Given the description of an element on the screen output the (x, y) to click on. 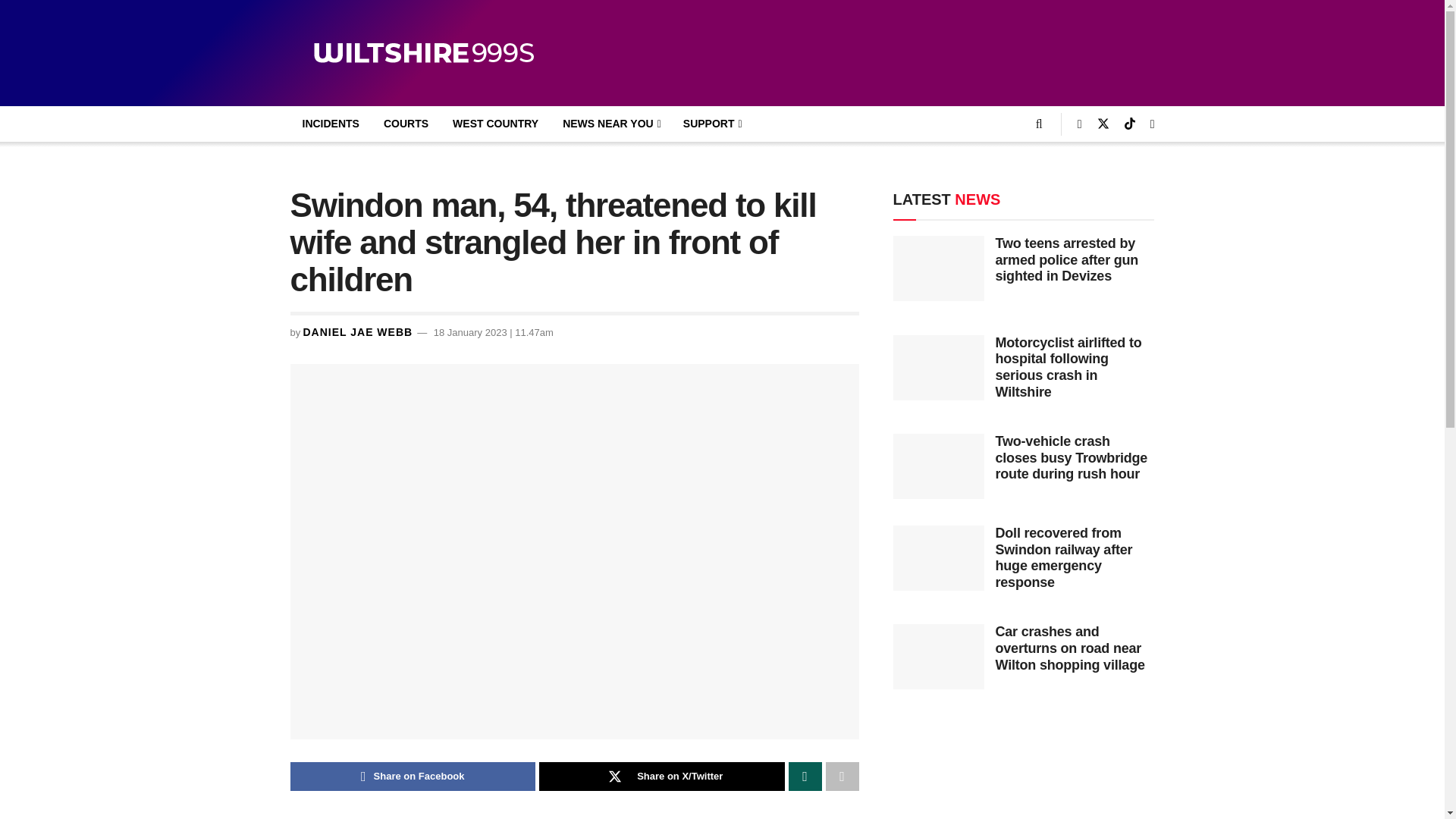
WEST COUNTRY (495, 123)
NEWS NEAR YOU (610, 123)
COURTS (406, 123)
DANIEL JAE WEBB (357, 331)
INCIDENTS (330, 123)
Share on Facebook (412, 776)
SUPPORT (711, 123)
